Given the description of an element on the screen output the (x, y) to click on. 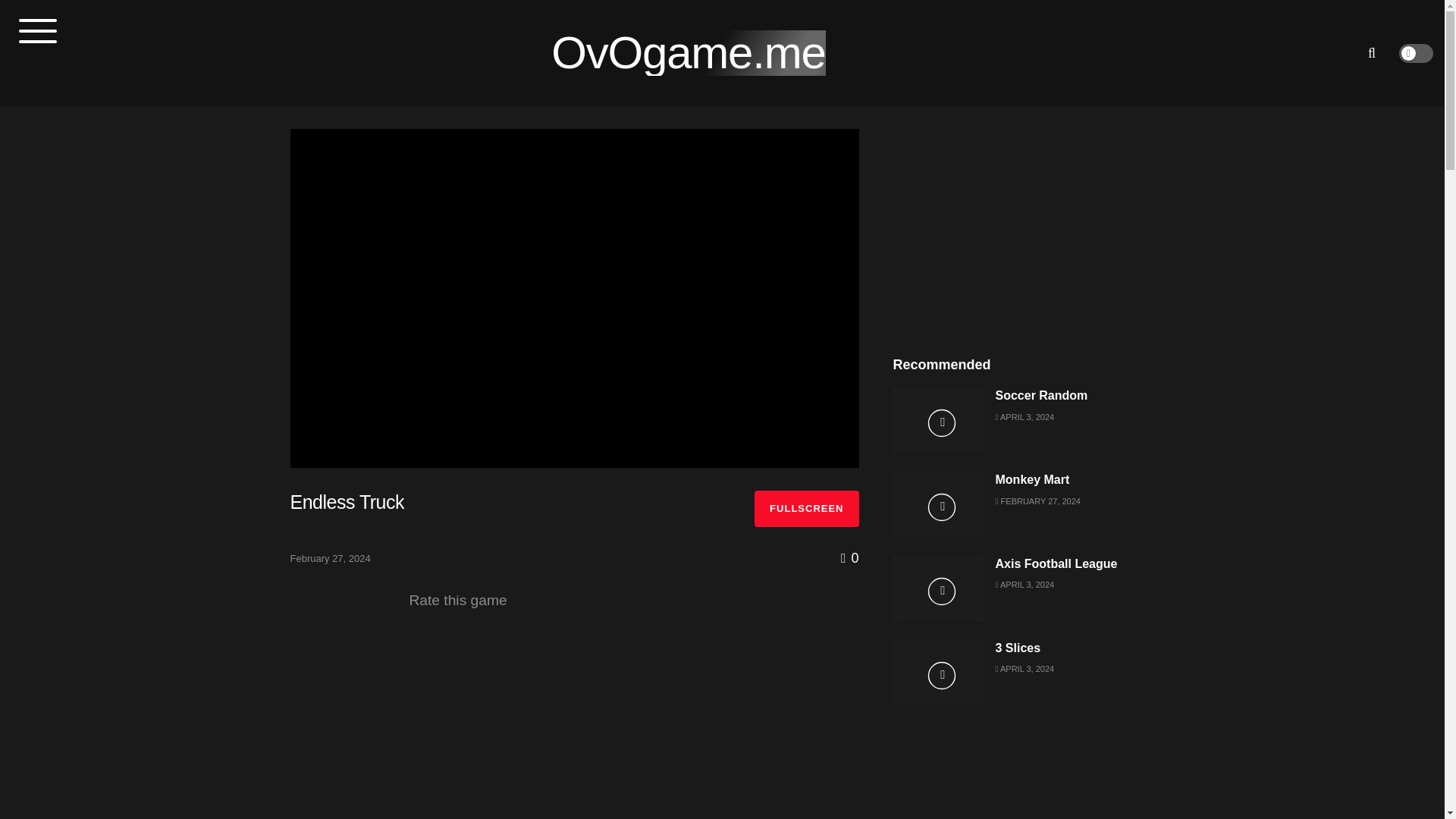
FULLSCREEN (806, 508)
OvOgame.me (688, 53)
0 (850, 557)
February 27, 2024 (329, 558)
Advertisement (1023, 223)
